Given the description of an element on the screen output the (x, y) to click on. 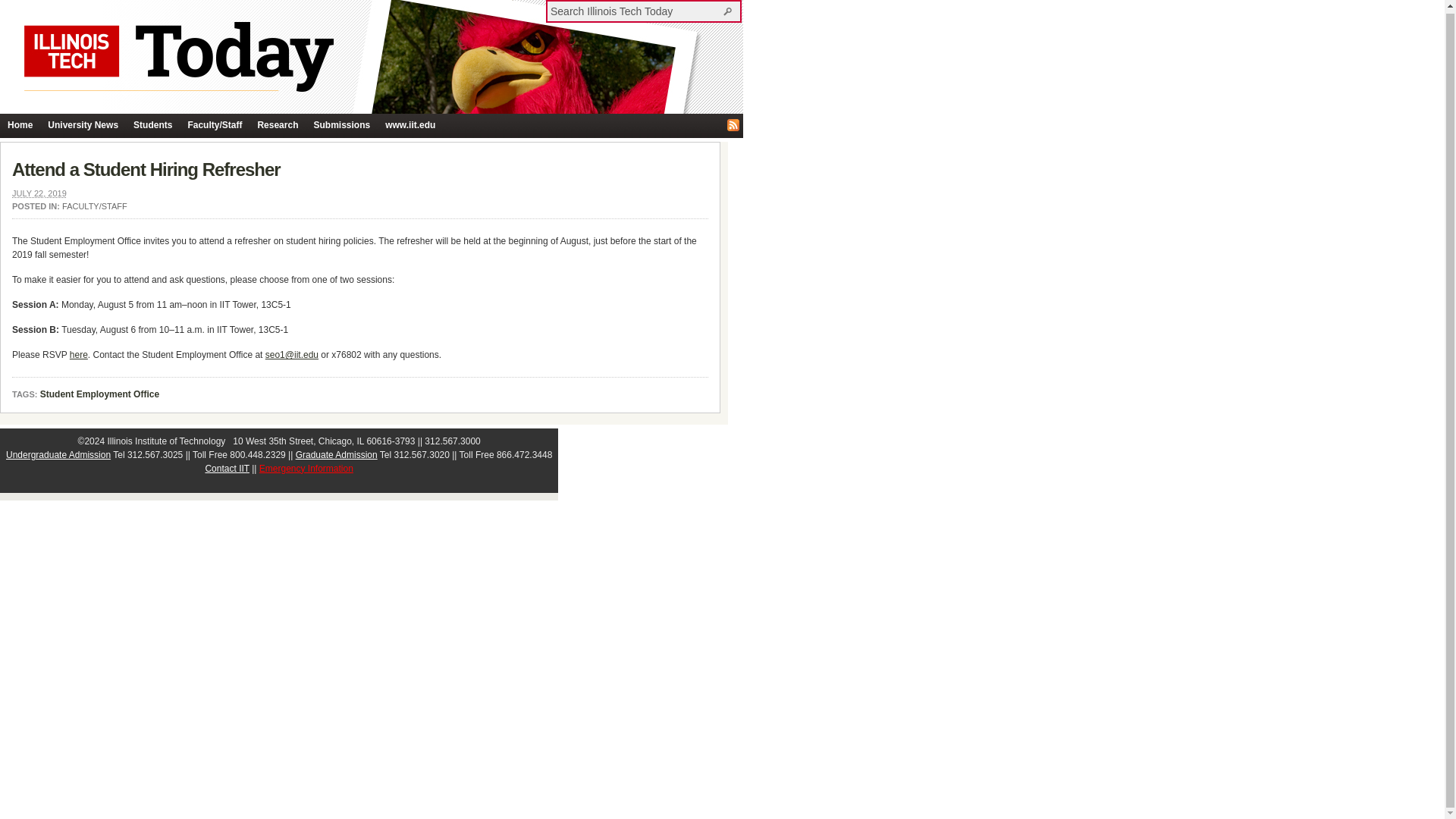
2019-07-22T15:07:33-05:00 (38, 193)
Research (276, 125)
Submissions (341, 125)
Students (152, 125)
Illinois Tech Today RSS Feed (732, 124)
Home (20, 125)
www.iit.edu (409, 125)
Undergraduate Admission (57, 454)
Search (729, 10)
Search (729, 10)
Student Employment Office (99, 395)
Contact IIT (226, 468)
Contact IIT (226, 468)
Emergency Information (306, 468)
University News (82, 125)
